Given the description of an element on the screen output the (x, y) to click on. 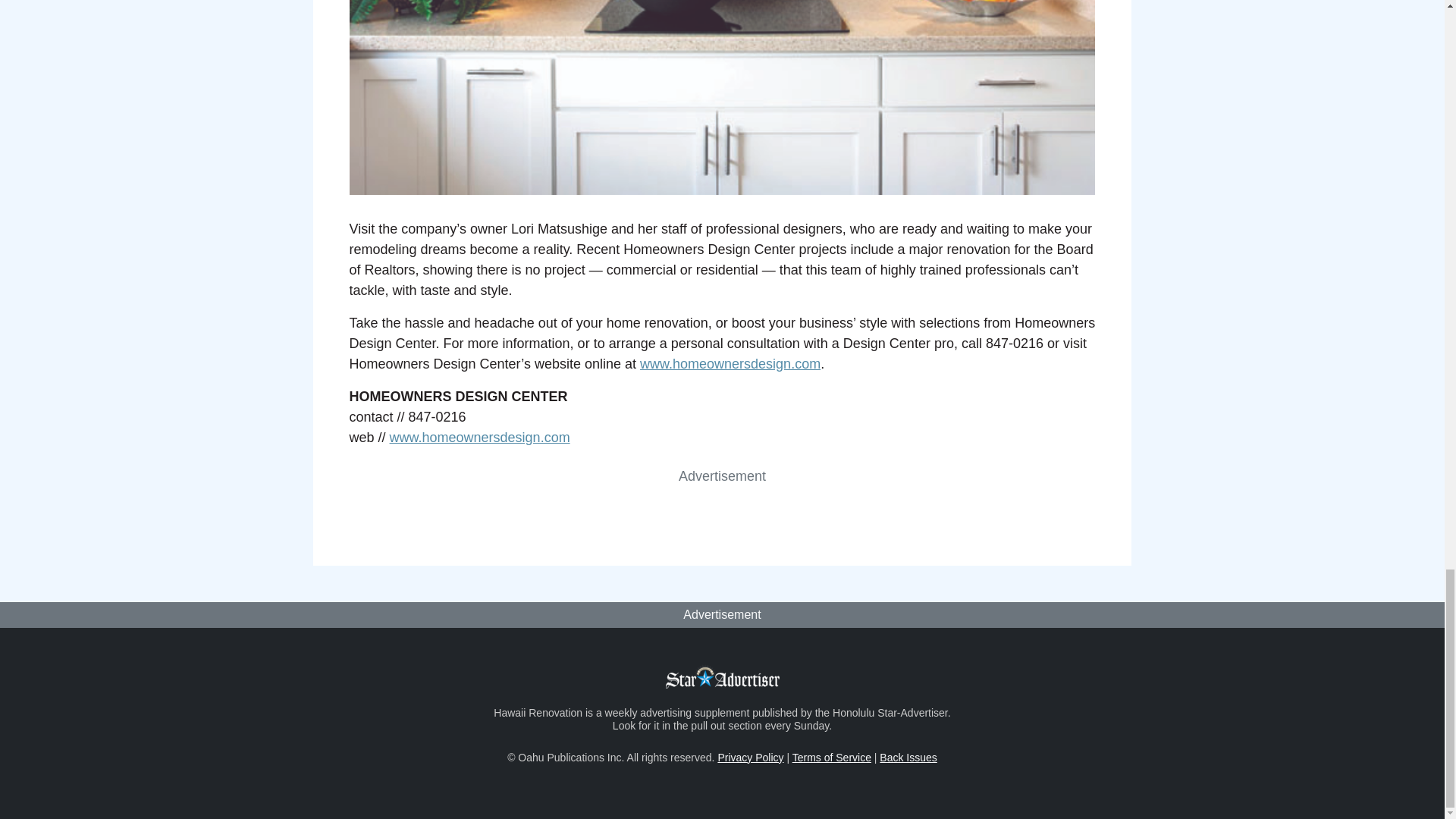
Privacy Policy (750, 757)
www.homeownersdesign.com (480, 437)
www.homeownersdesign.com (730, 363)
